Given the description of an element on the screen output the (x, y) to click on. 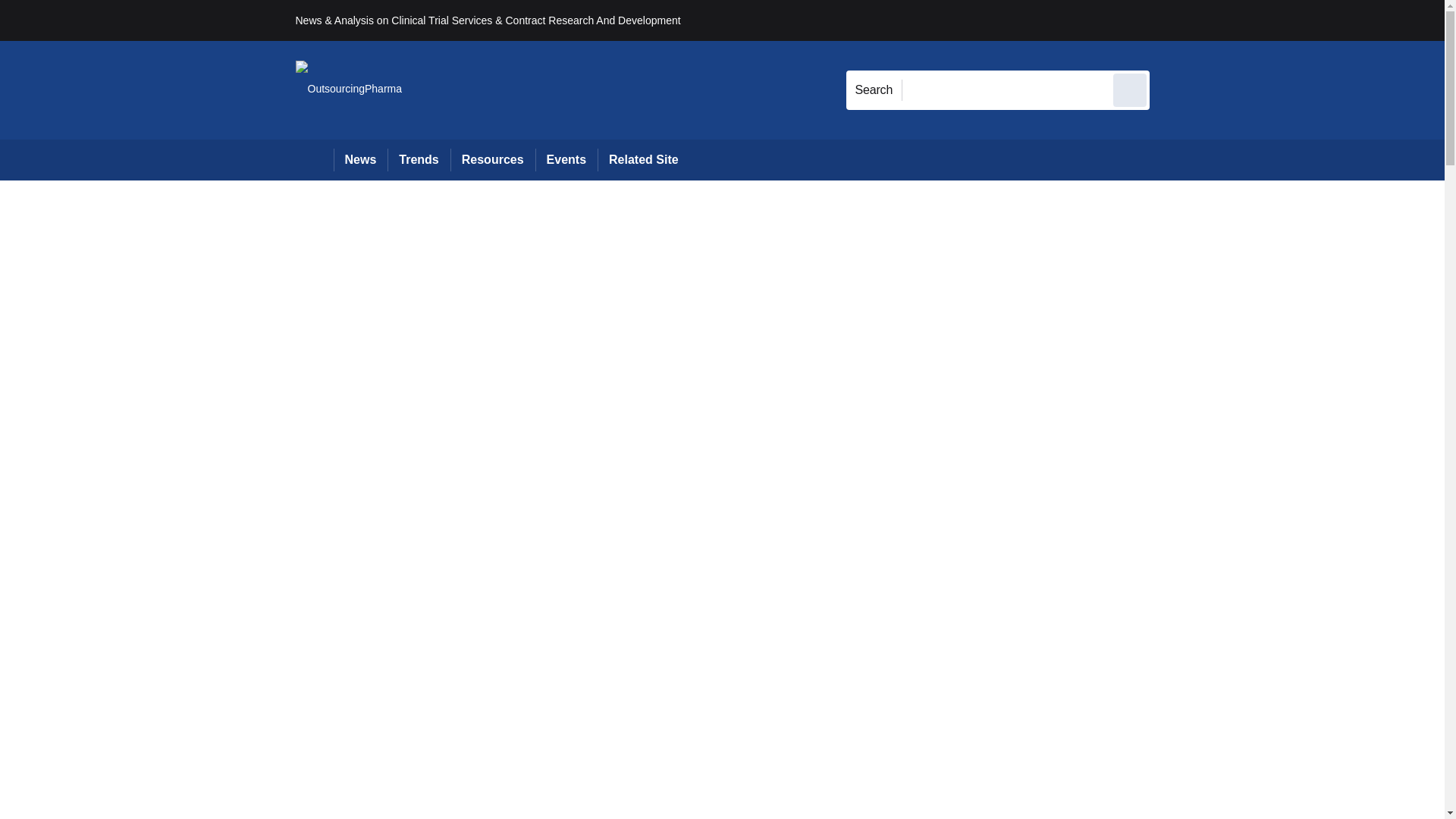
Home (314, 159)
OutsourcingPharma (349, 89)
Resources (492, 159)
REGISTER (1250, 20)
My account (1256, 20)
Sign in (1171, 20)
Send (1129, 89)
Sign out (1174, 20)
Home (313, 159)
Trends (418, 159)
Send (1129, 90)
News (360, 159)
